Given the description of an element on the screen output the (x, y) to click on. 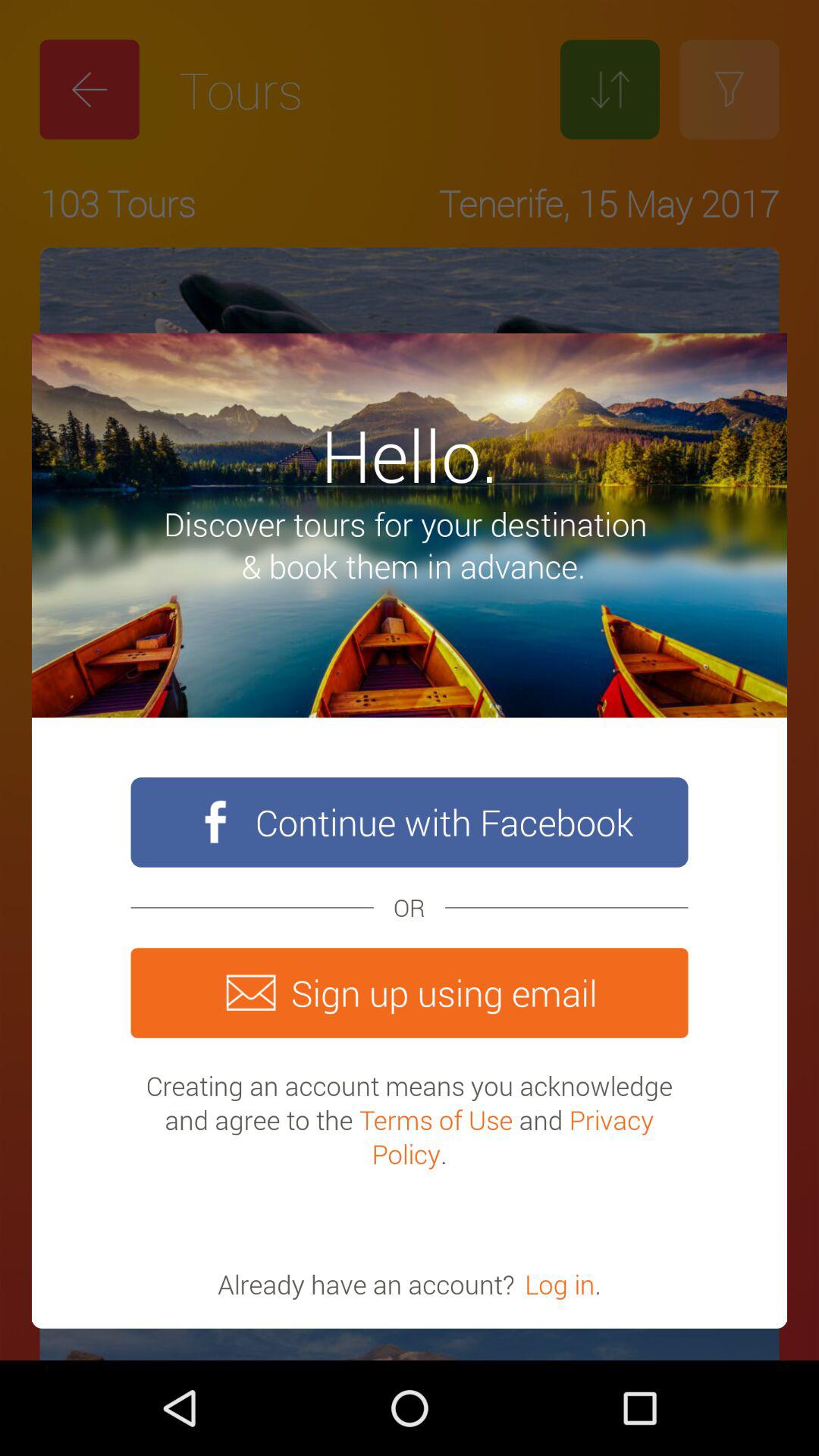
flip until log in item (559, 1283)
